Given the description of an element on the screen output the (x, y) to click on. 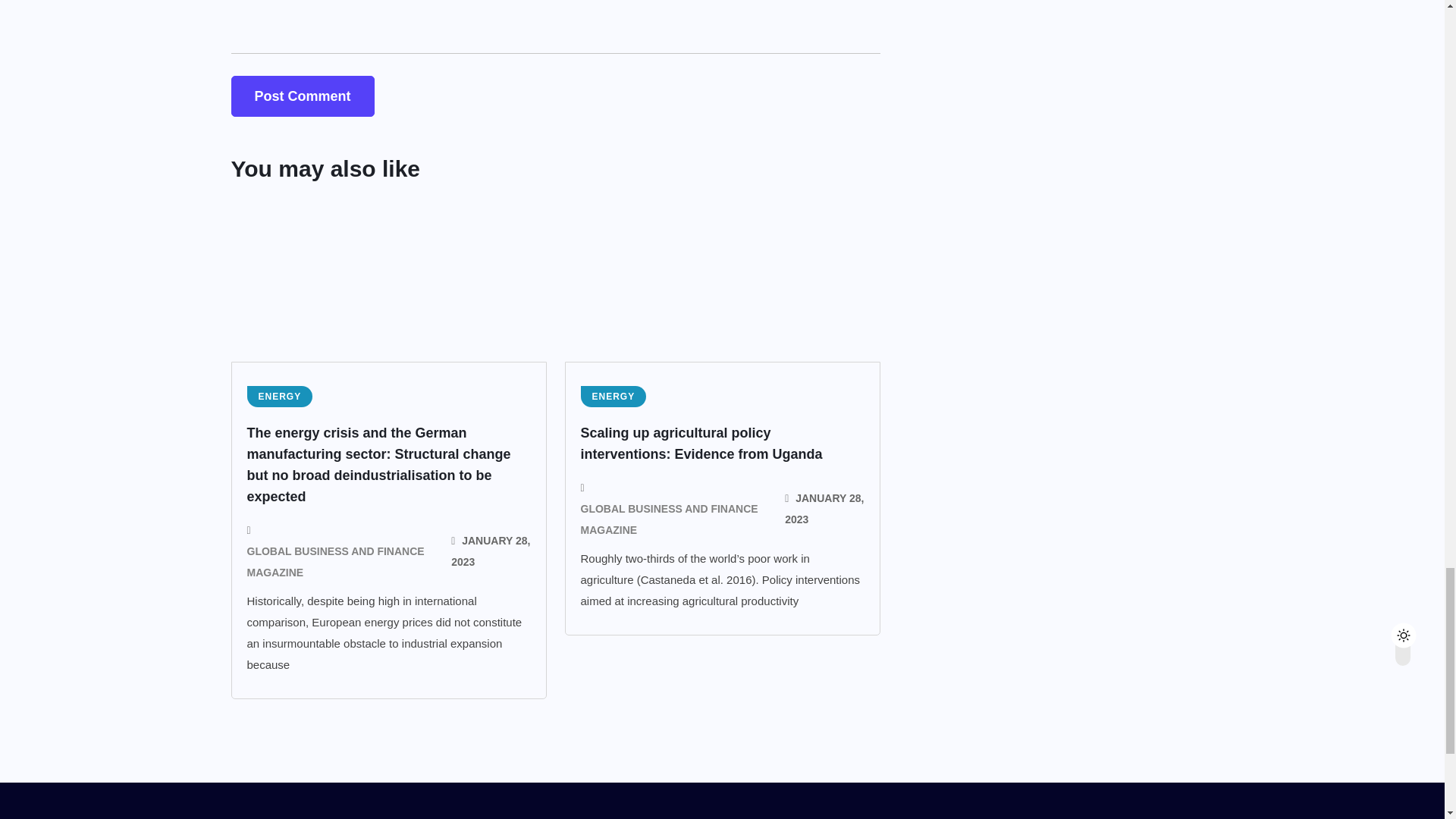
Post Comment (302, 96)
Posts by GLOBAL BUSINESS AND FINANCE MAGAZINE (673, 518)
Posts by GLOBAL BUSINESS AND FINANCE MAGAZINE (339, 561)
